Given the description of an element on the screen output the (x, y) to click on. 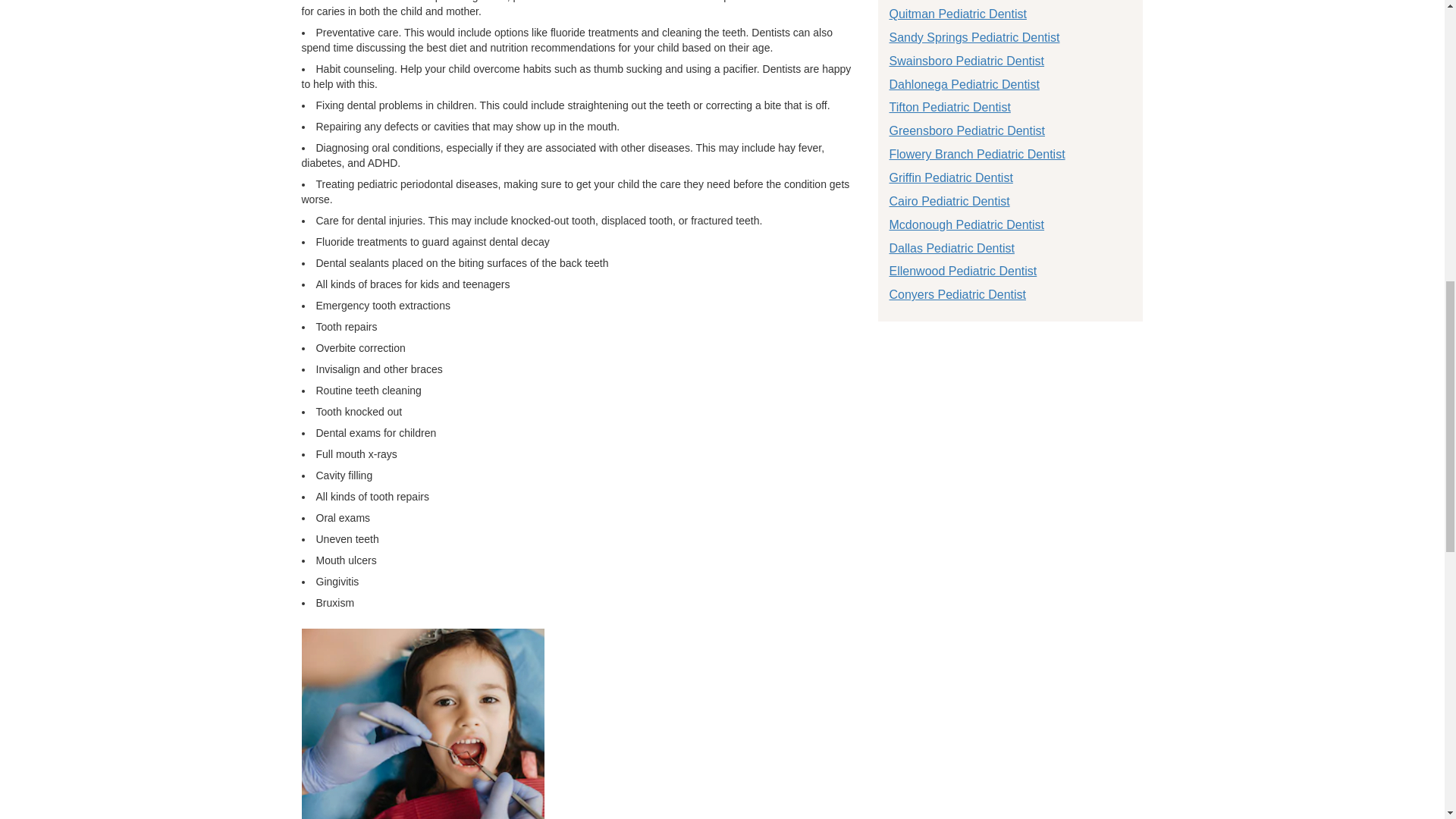
Sandy Springs Pediatric Dentist (973, 37)
Swainsboro Pediatric Dentist (965, 60)
Dahlonega Pediatric Dentist (963, 83)
Mcdonough Pediatric Dentist (965, 224)
Quitman Pediatric Dentist (957, 13)
Ellenwood Pediatric Dentist (962, 270)
Cairo Pediatric Dentist (948, 201)
Griffin Pediatric Dentist (949, 177)
Greensboro Pediatric Dentist (965, 130)
Flowery Branch Pediatric Dentist (976, 154)
